Given the description of an element on the screen output the (x, y) to click on. 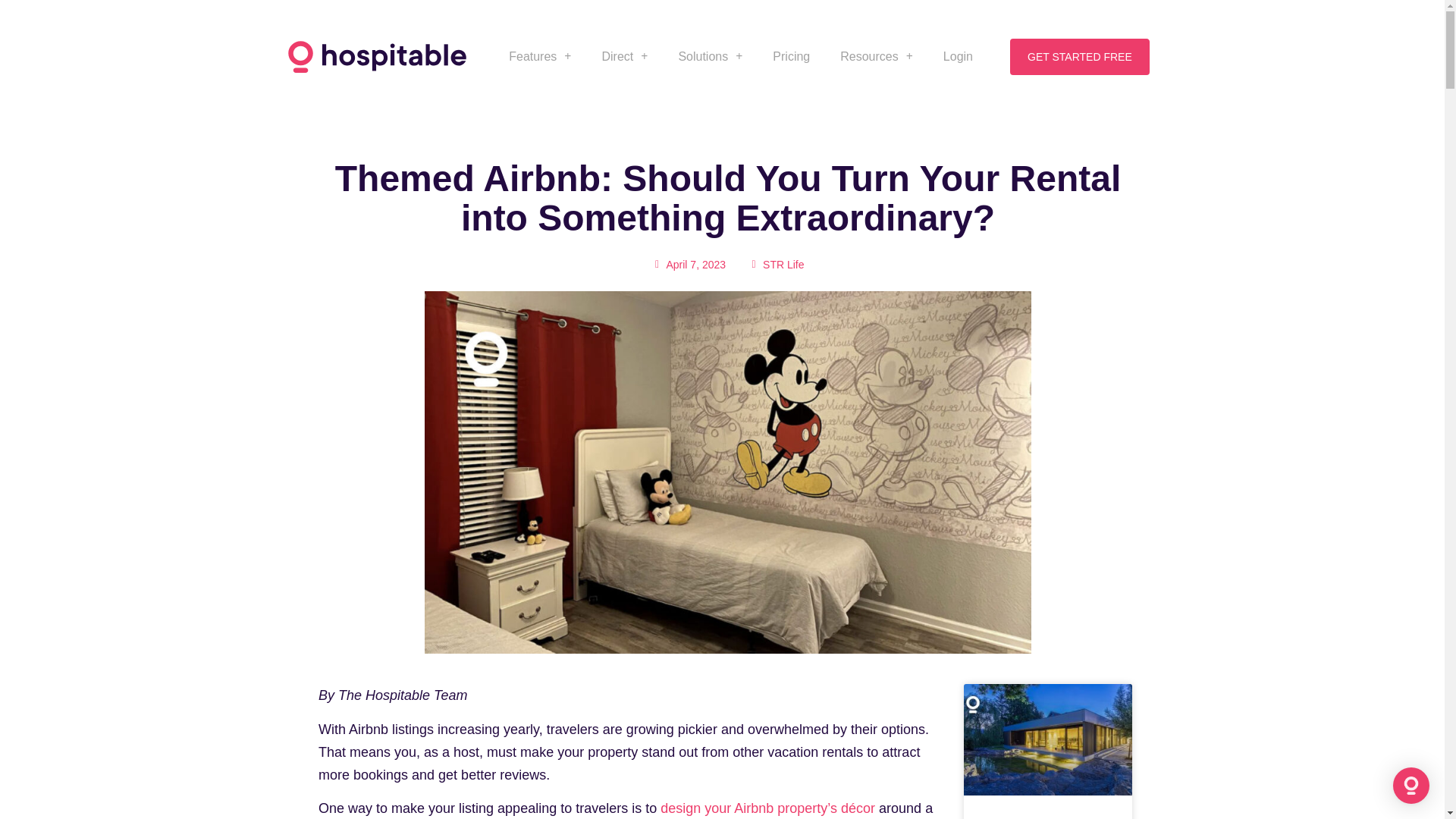
Pricing (791, 56)
Features (539, 56)
Login (957, 56)
Resources (876, 56)
Solutions (710, 56)
Direct (624, 56)
